Given the description of an element on the screen output the (x, y) to click on. 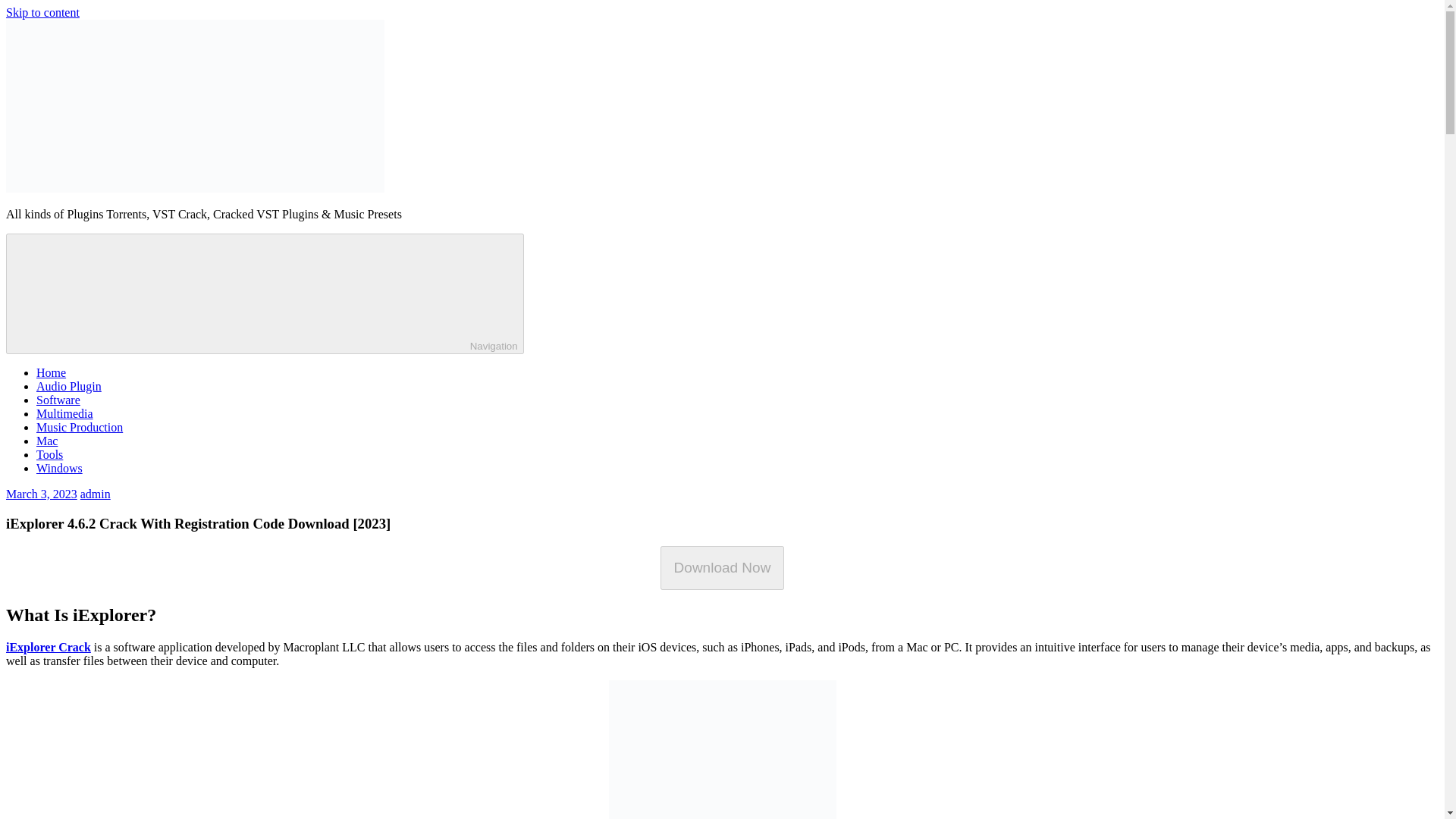
Multimedia (64, 413)
View all posts by admin (95, 493)
Music Production (79, 427)
March 3, 2023 (41, 493)
Windows (59, 468)
Tools (49, 454)
Mac (47, 440)
Home (50, 372)
Download Now (722, 567)
12:01 am (41, 493)
iExplorer Crack (47, 646)
Skip to content (42, 11)
Navigation (264, 293)
admin (95, 493)
Audio Plugin (68, 386)
